Given the description of an element on the screen output the (x, y) to click on. 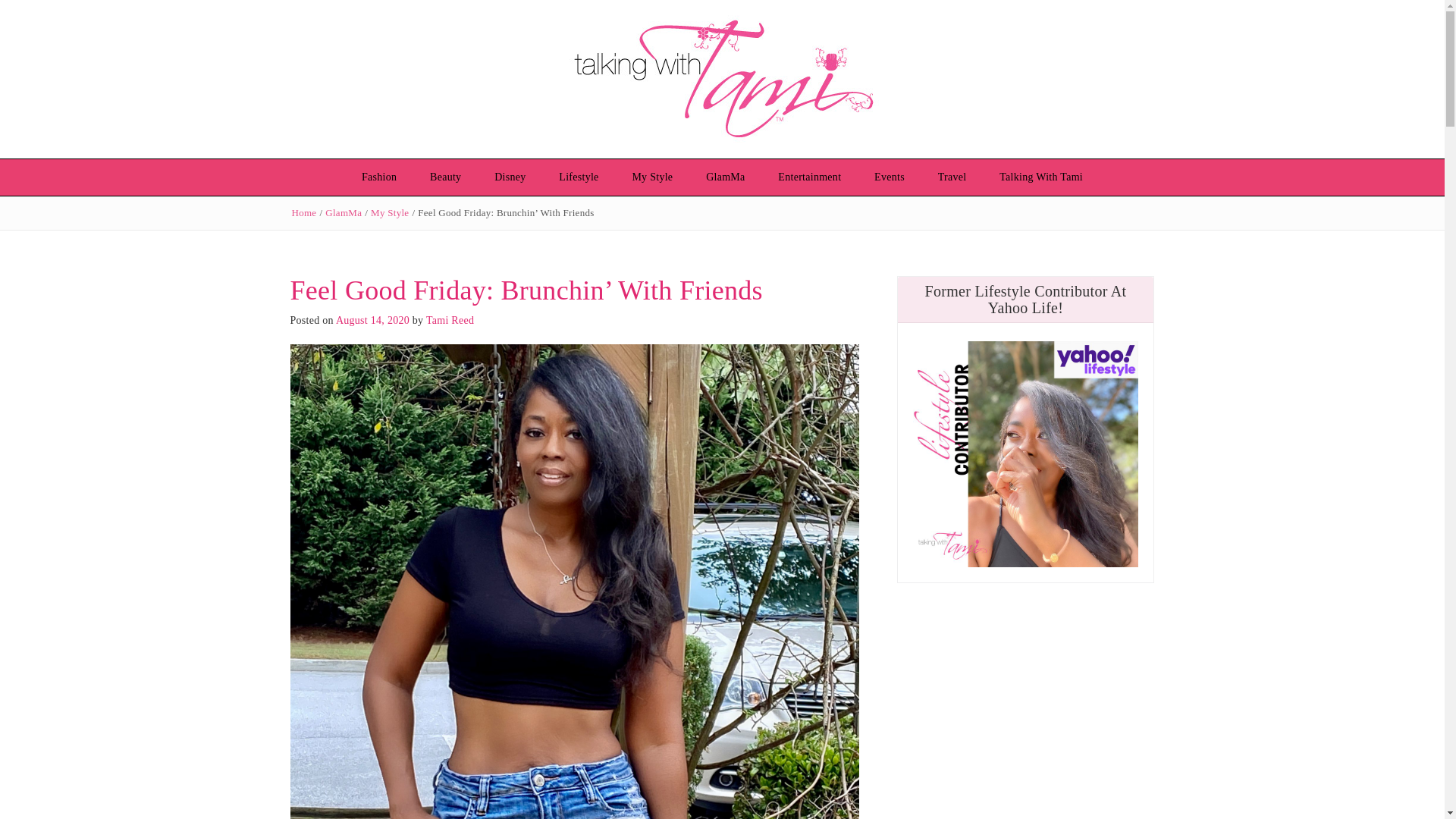
Home (303, 212)
My Style (651, 176)
Tami Reed (450, 319)
GlamMa (725, 176)
Fashion (379, 176)
Talking With Tami (1040, 176)
Disney (509, 176)
August 14, 2020 (372, 319)
Events (889, 176)
Beauty (445, 176)
Entertainment (809, 176)
My Style (390, 212)
Lifestyle (577, 176)
GlamMa (342, 212)
Travel (952, 176)
